Given the description of an element on the screen output the (x, y) to click on. 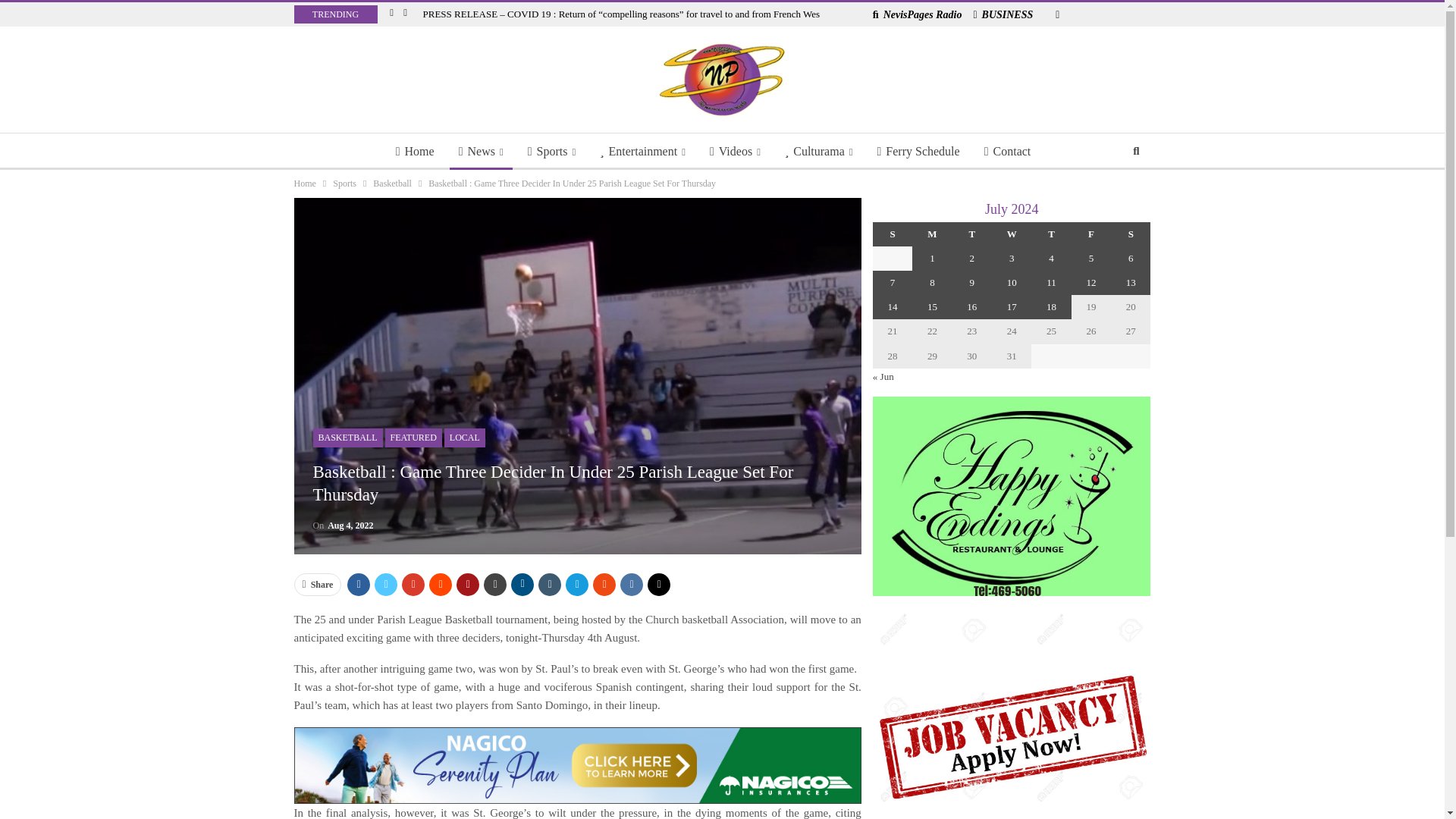
BUSINESS (1002, 14)
Home (415, 151)
News (480, 151)
NevisPages Radio (917, 14)
